Given the description of an element on the screen output the (x, y) to click on. 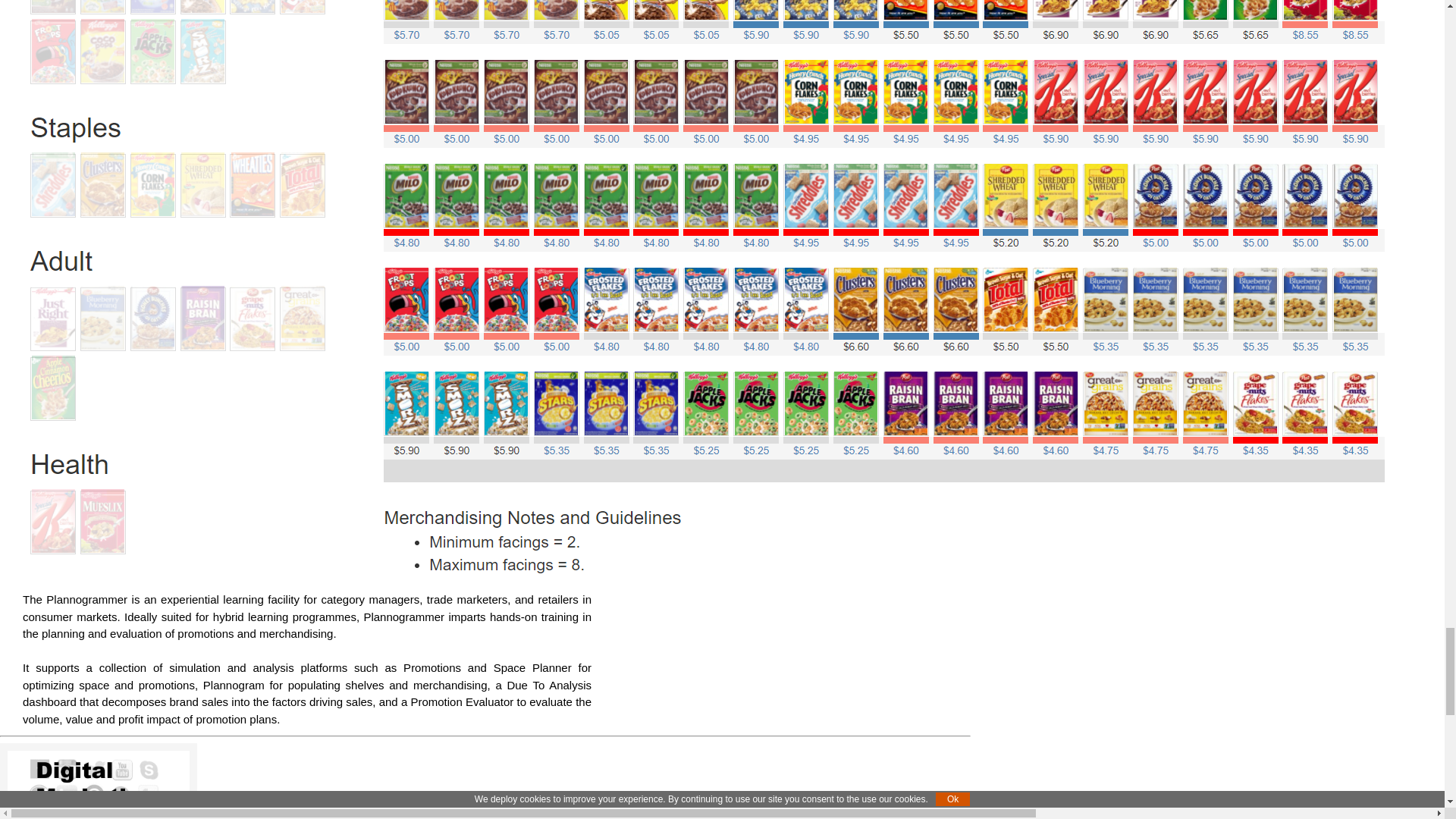
Digital Marketing, Practitioner's Guide to Digital Marketing (98, 785)
